Given the description of an element on the screen output the (x, y) to click on. 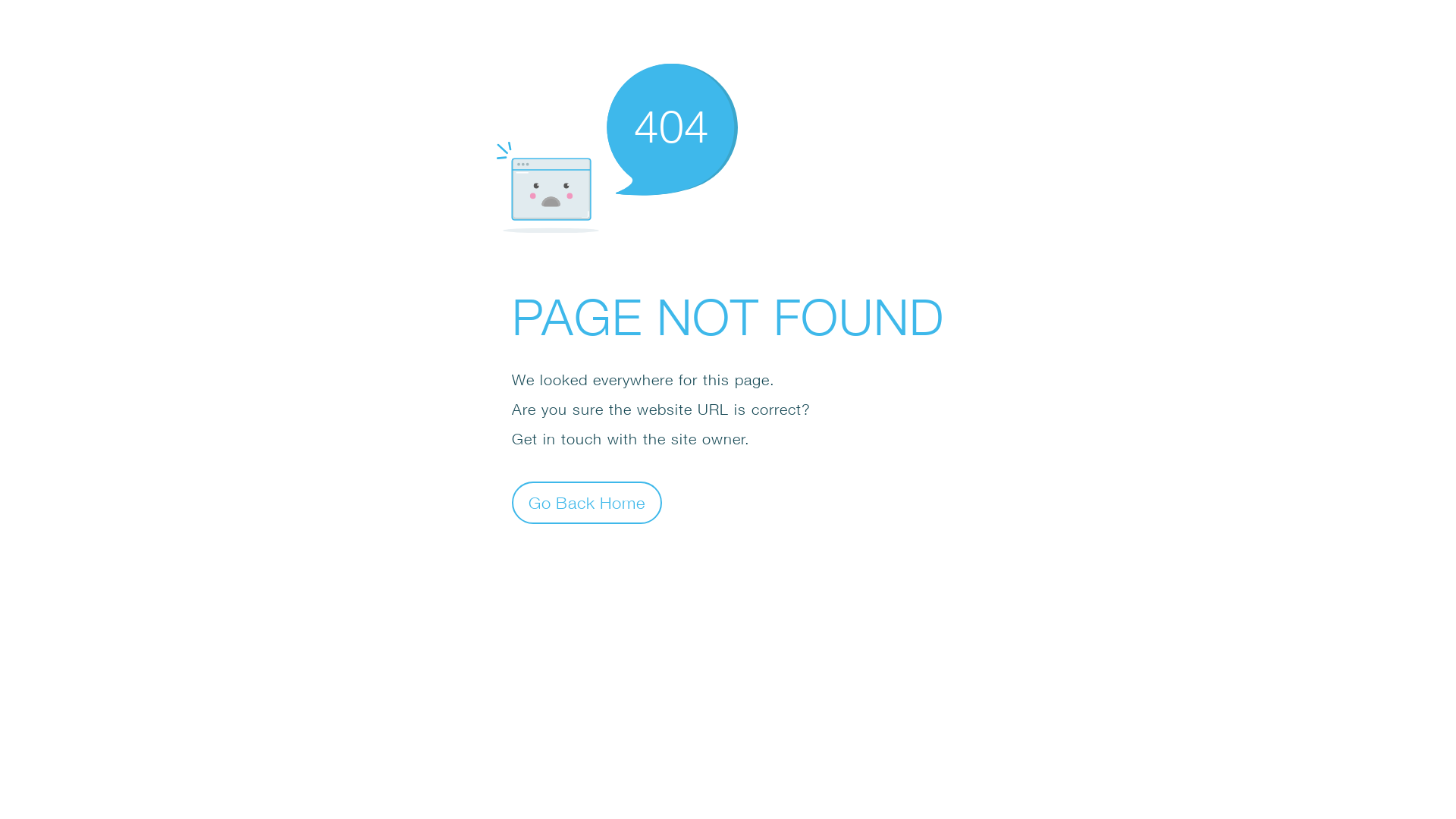
Go Back Home Element type: text (586, 502)
